Given the description of an element on the screen output the (x, y) to click on. 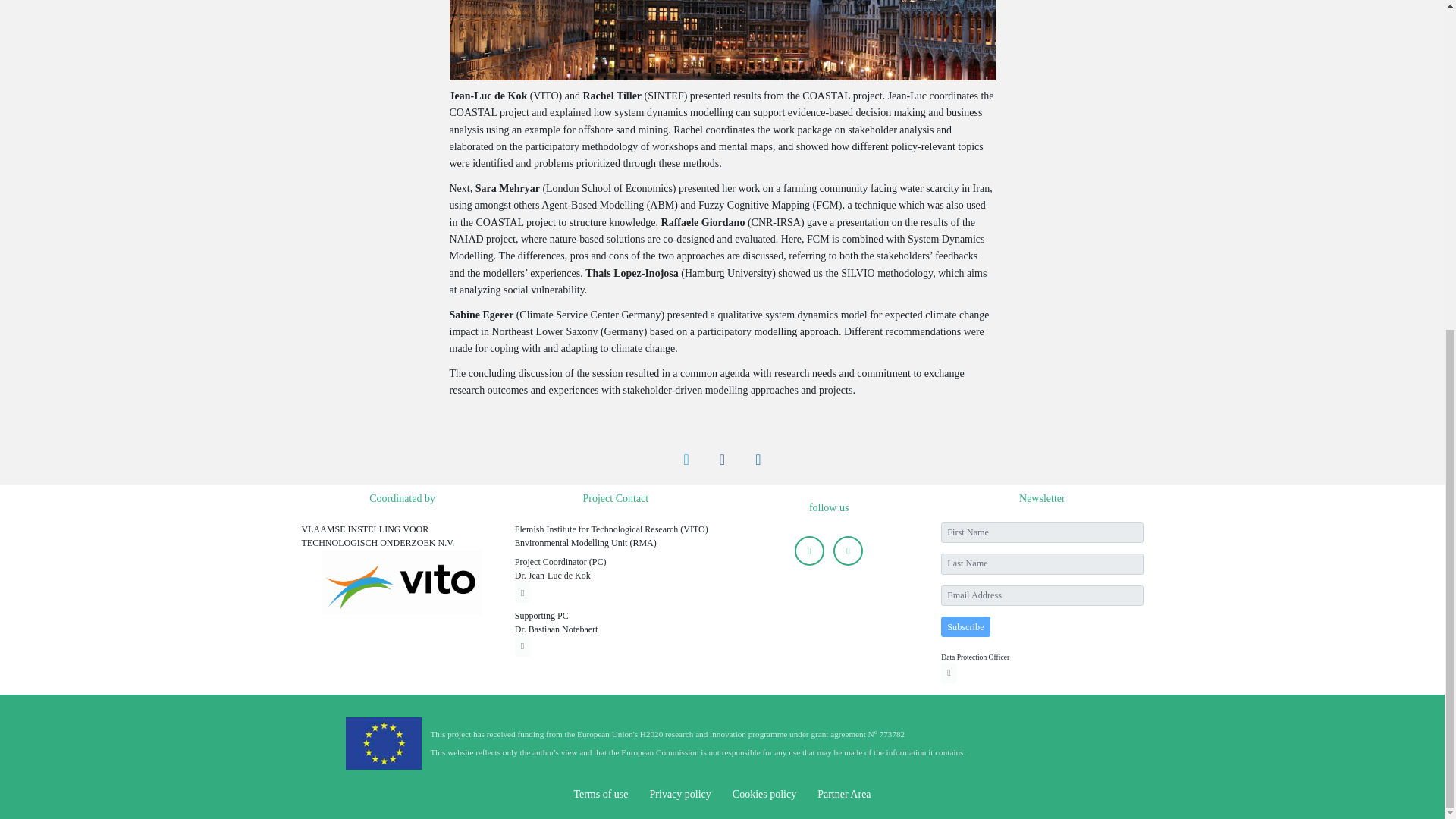
Follow us on Twitter (809, 550)
Share on Facebook (722, 459)
Privacy policy (680, 794)
Subscribe (965, 626)
Terms of use (600, 794)
Share on Twitter (686, 459)
Follow us on LinkedIn (847, 550)
Share on LinkedIn (757, 459)
